Given the description of an element on the screen output the (x, y) to click on. 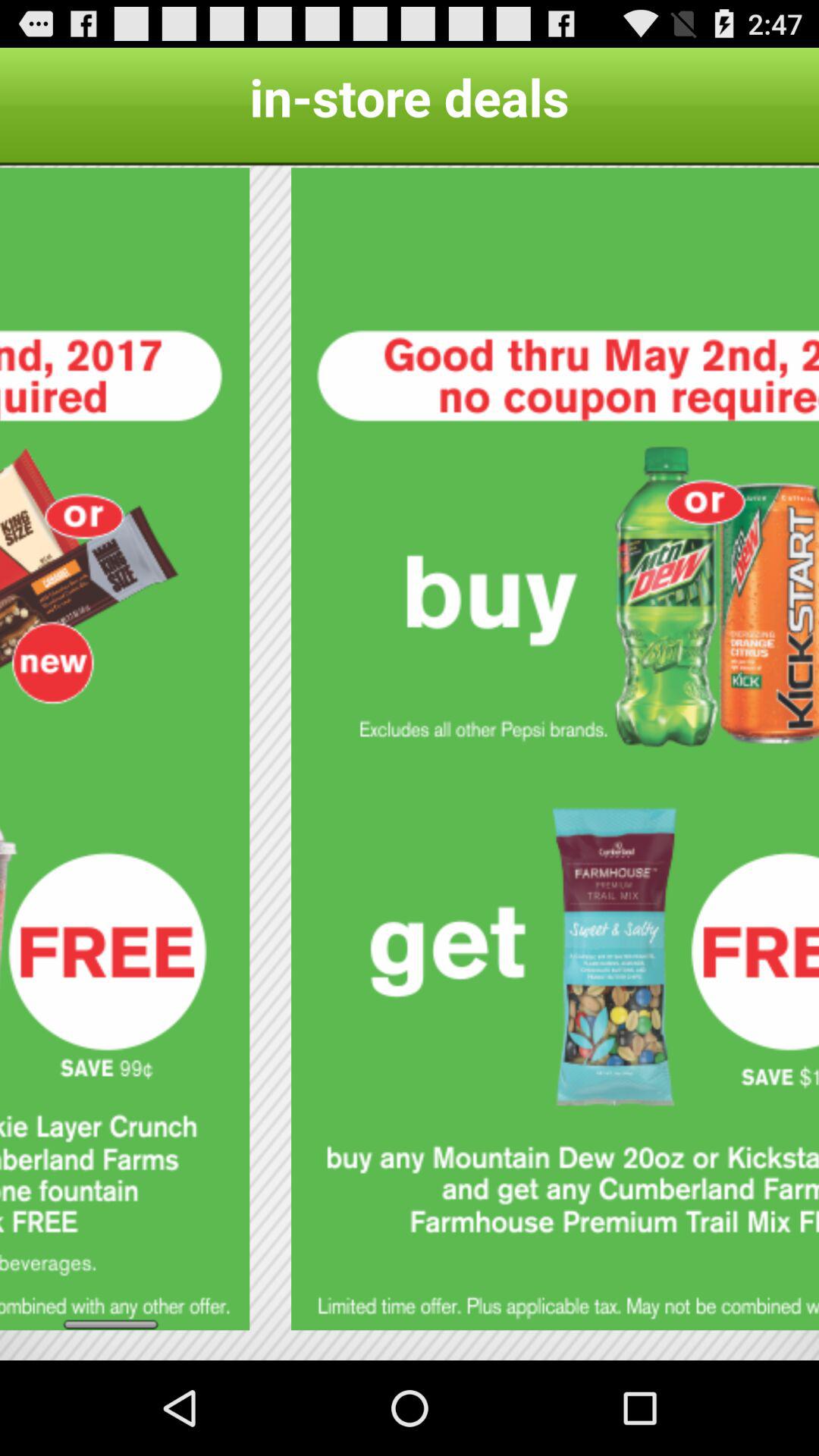
click the icon below the in-store deals app (124, 748)
